Given the description of an element on the screen output the (x, y) to click on. 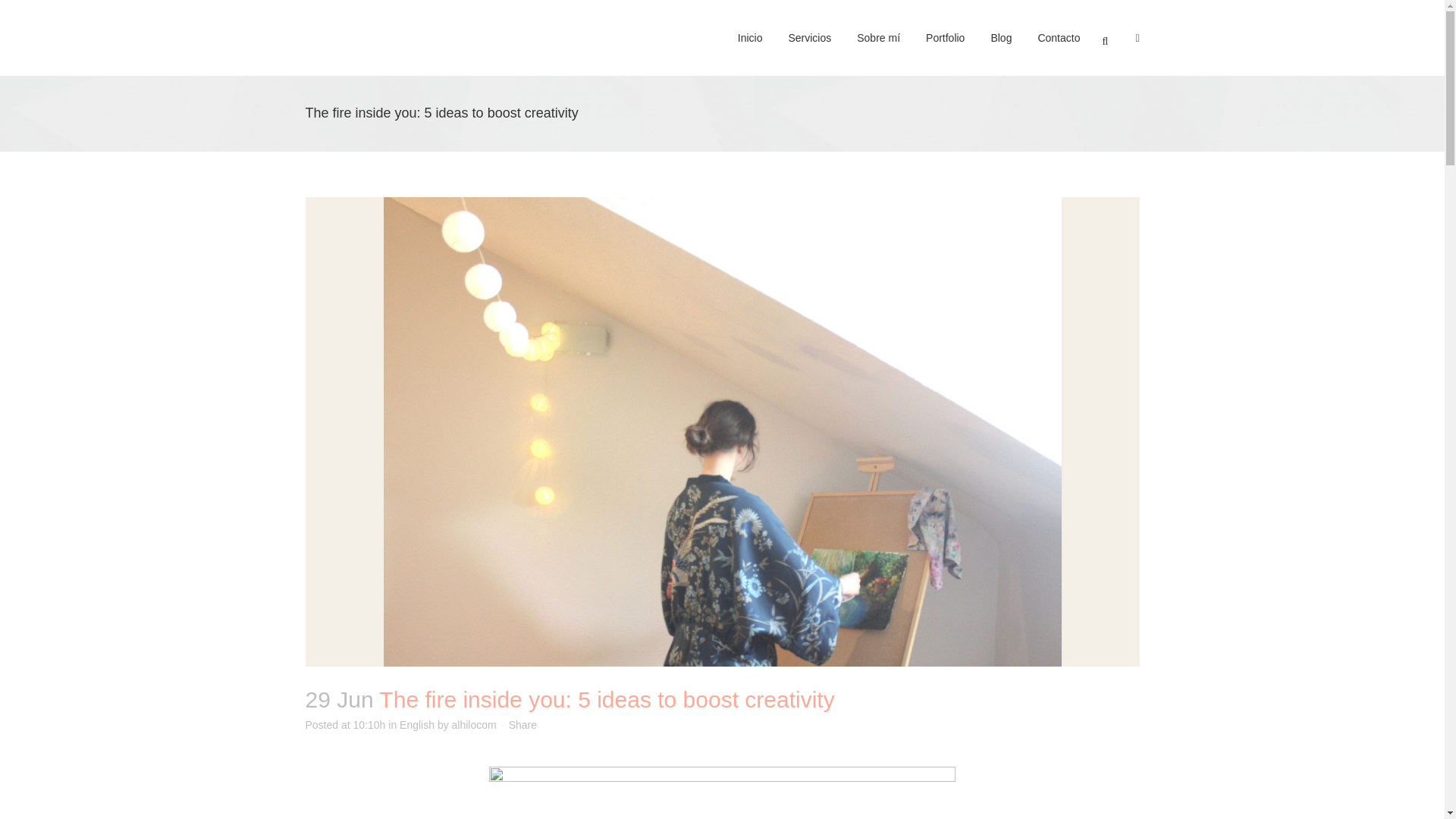
Contacto (1059, 38)
Servicios (809, 38)
Inicio (750, 38)
Blog (1000, 38)
alhilocom (473, 725)
Portfolio (944, 38)
English (415, 725)
Share (522, 725)
